Given the description of an element on the screen output the (x, y) to click on. 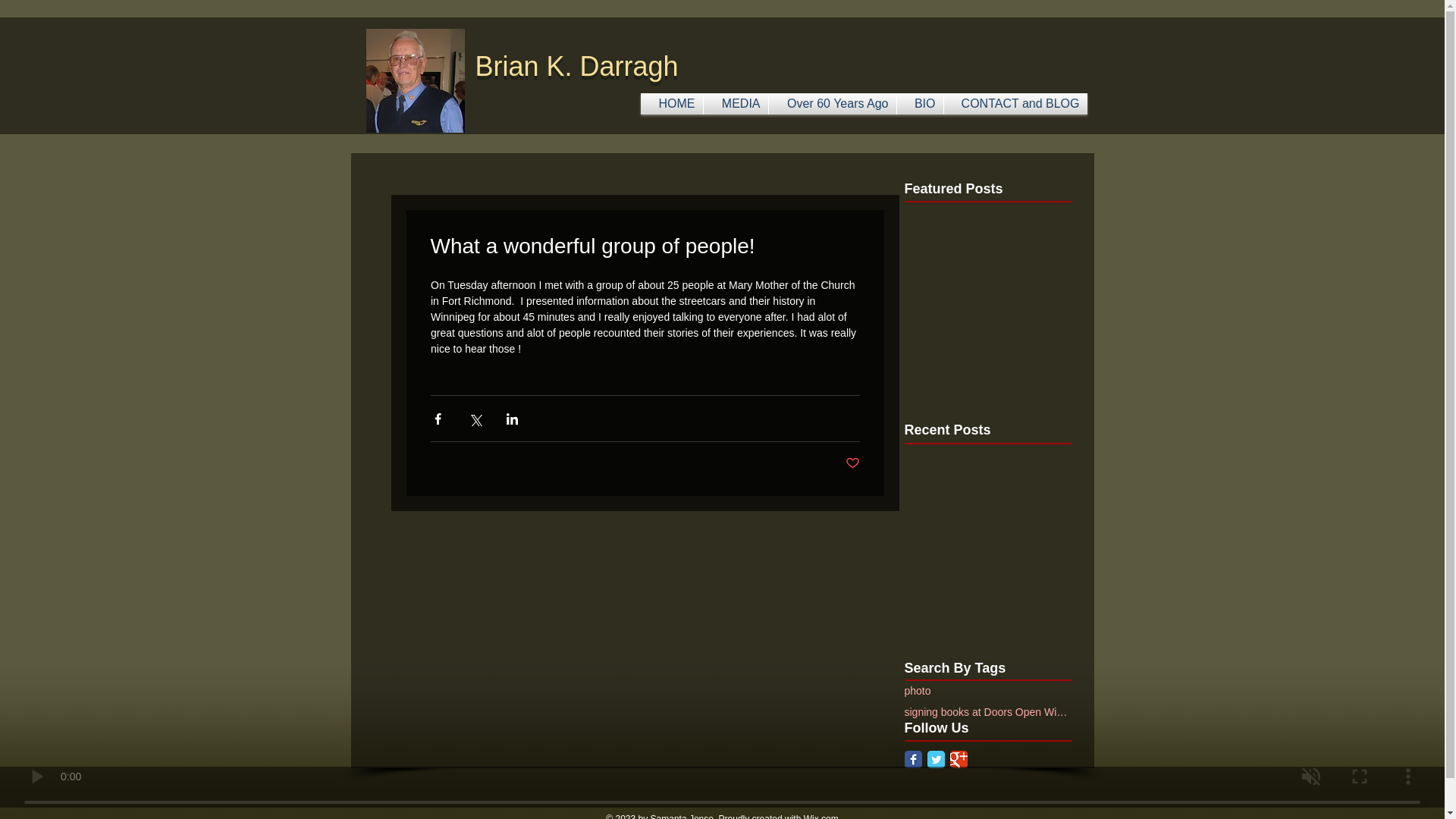
Post not marked as liked (851, 463)
signing books at Doors Open Winnipeg at Via Rail S (987, 711)
Over 60 Years Ago (832, 103)
BIO (919, 103)
photo (917, 690)
MEDIA (735, 103)
Brian K. Darragh (576, 65)
HOME (670, 103)
Wix.com (820, 816)
